Given the description of an element on the screen output the (x, y) to click on. 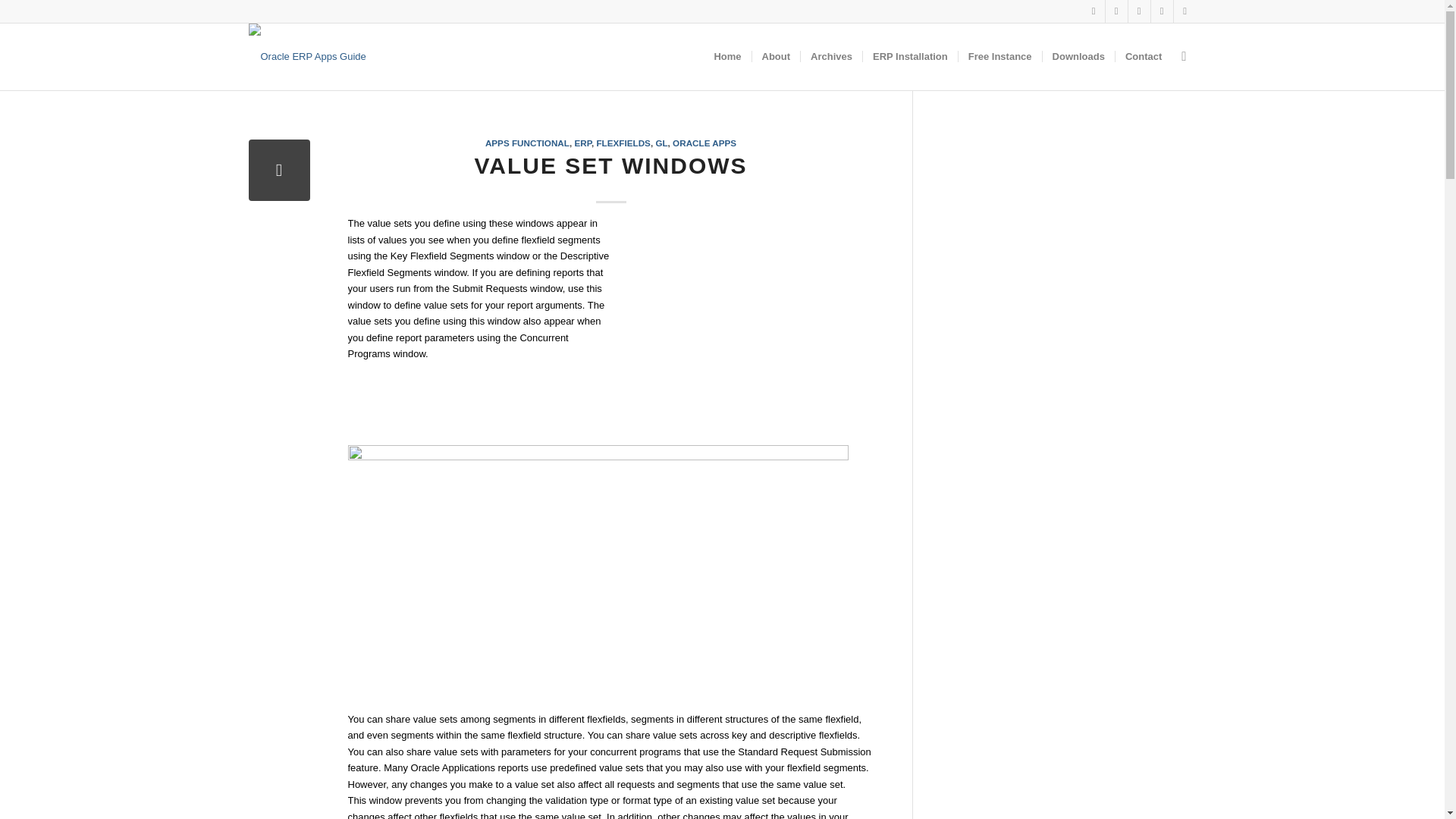
Rss (1115, 11)
Facebook (1094, 11)
Mail (1139, 11)
APPS FUNCTIONAL (526, 143)
Youtube (1184, 11)
Downloads (1078, 56)
Free Instance (1000, 56)
Value Set Windows (279, 169)
FLEXFIELDS (622, 143)
ORACLE APPS (704, 143)
